Given the description of an element on the screen output the (x, y) to click on. 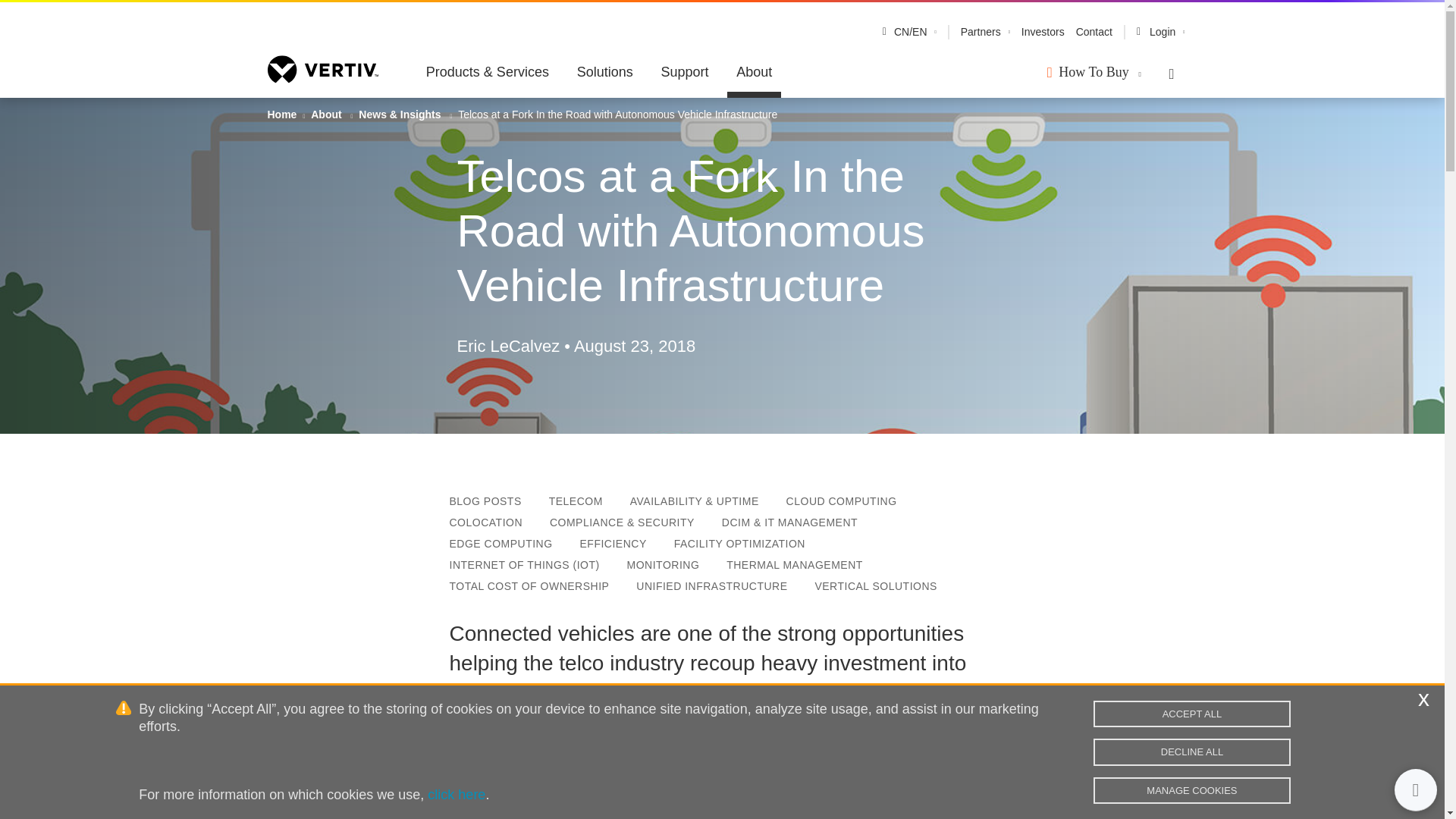
Login (1161, 32)
Contact (1093, 31)
Partners (980, 31)
Investors (1043, 31)
